Given the description of an element on the screen output the (x, y) to click on. 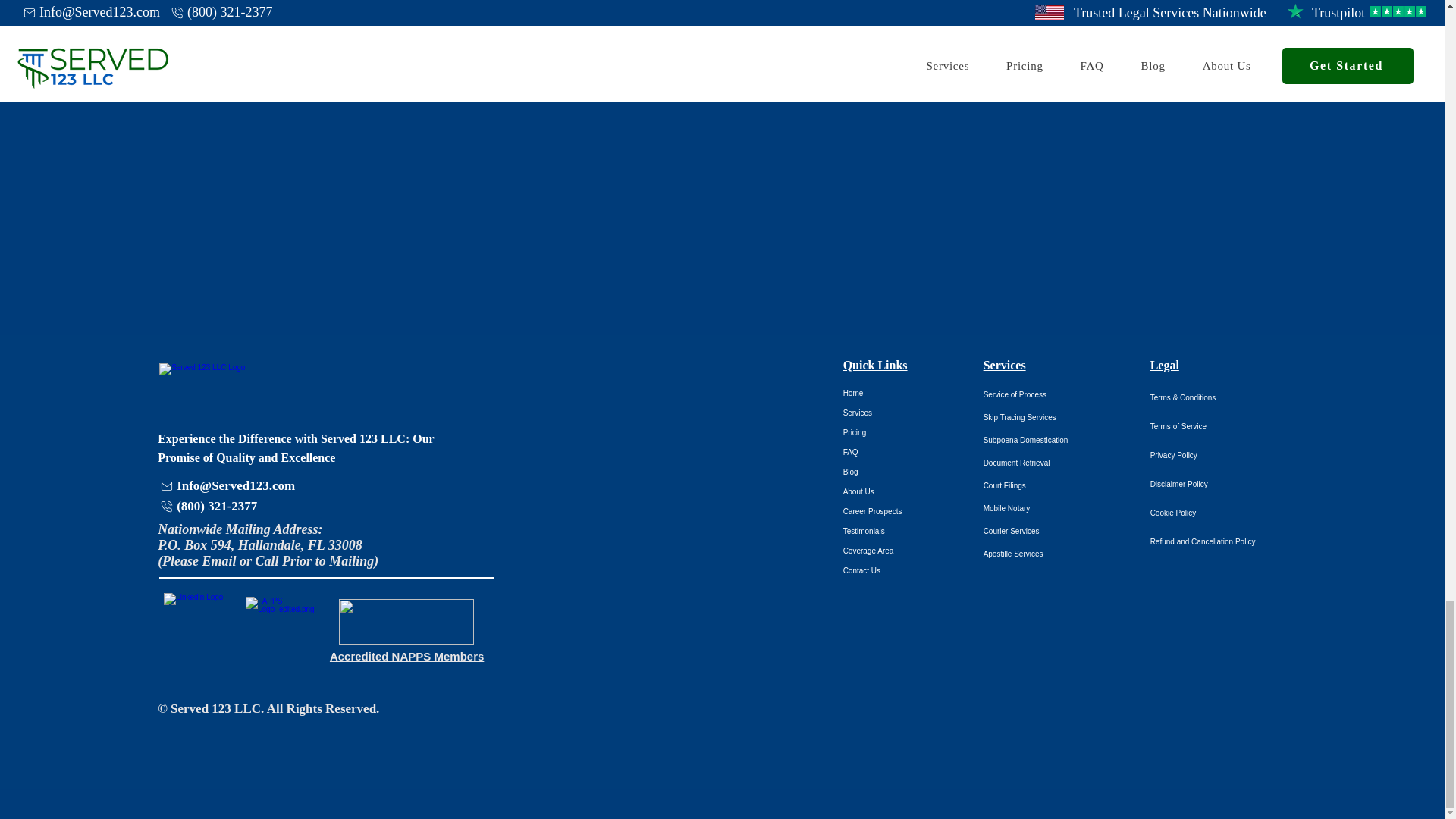
Linkedin Logo (198, 626)
NAPPS Logo.png (406, 621)
